Given the description of an element on the screen output the (x, y) to click on. 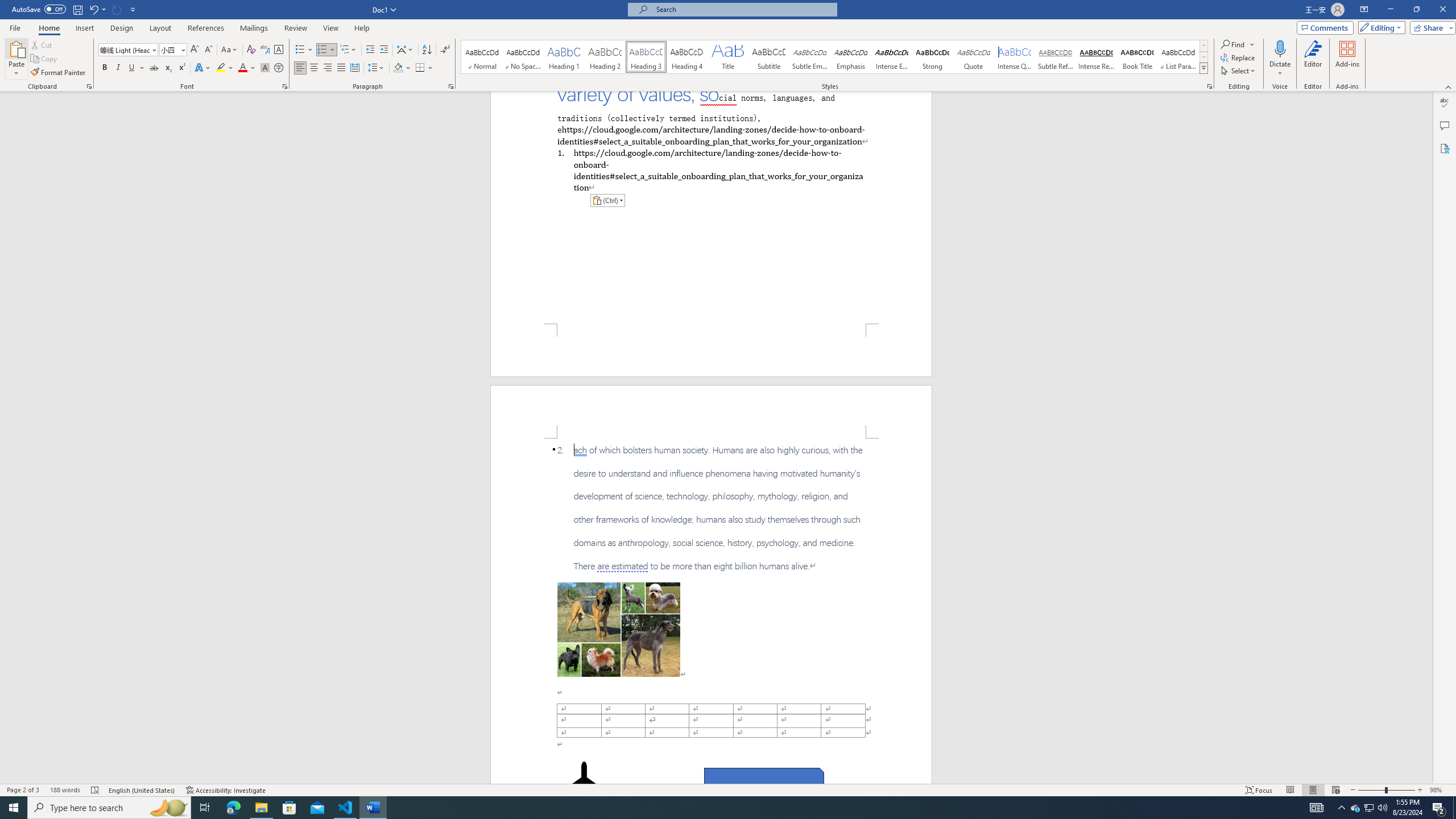
Grow Font (193, 49)
Strong (932, 56)
Intense Quote (1014, 56)
Heading 2 (605, 56)
Multilevel List (347, 49)
Text Highlight Color (224, 67)
